Given the description of an element on the screen output the (x, y) to click on. 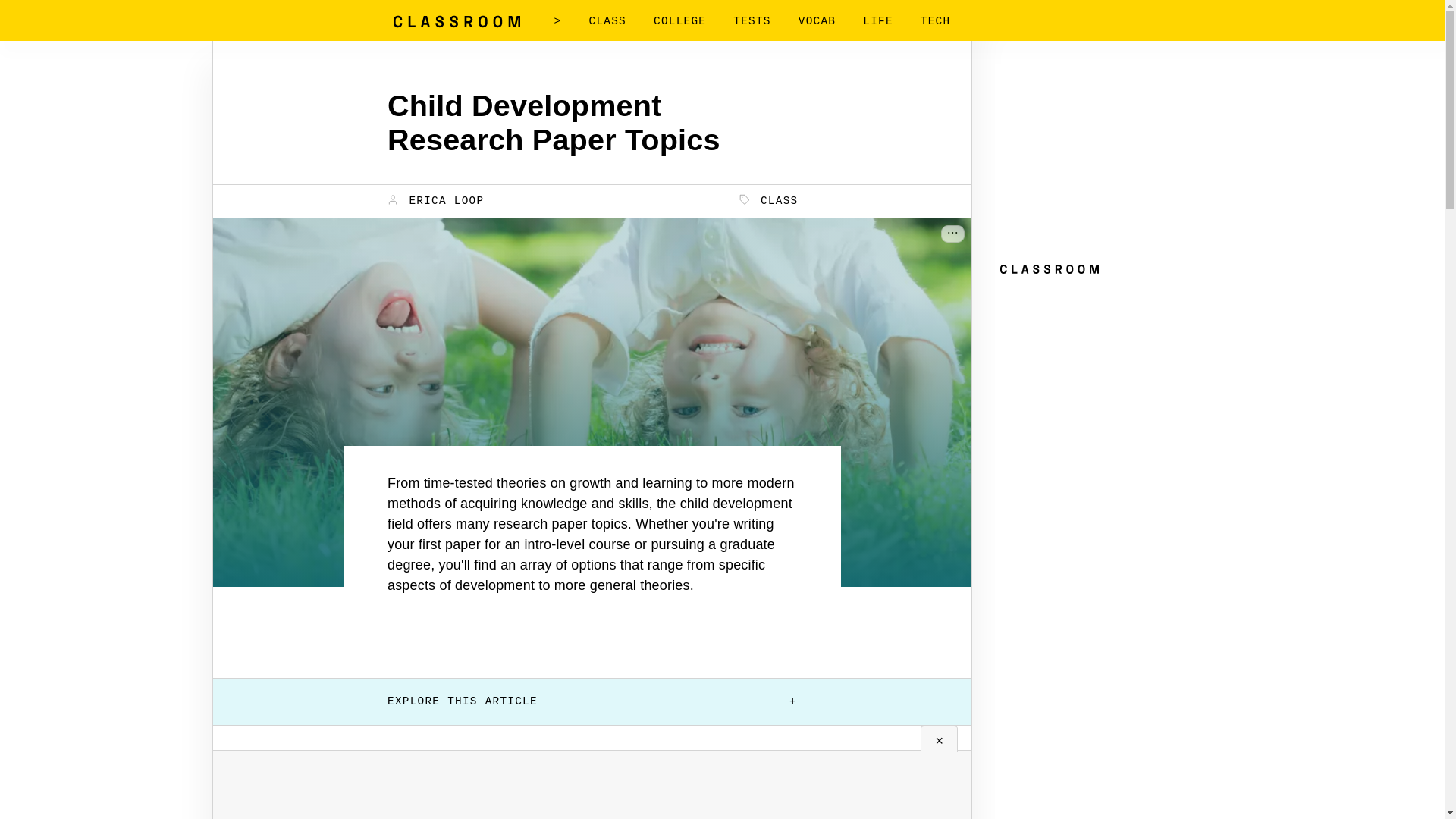
TECH (935, 21)
CLASS (607, 21)
COLLEGE (679, 21)
CLASS (768, 200)
LIFE (878, 21)
TESTS (751, 21)
VOCAB (816, 21)
